Given the description of an element on the screen output the (x, y) to click on. 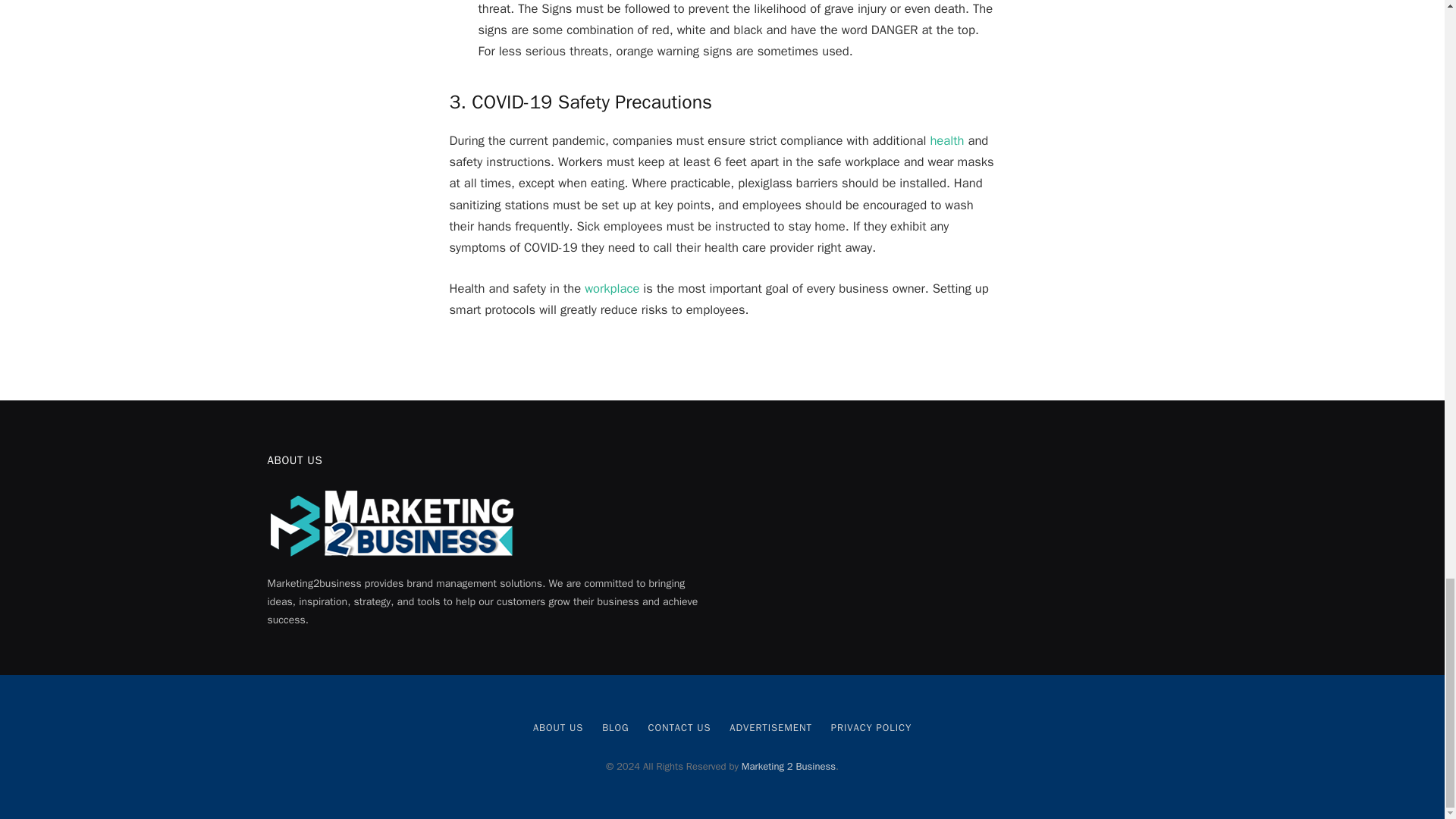
workplace (612, 288)
ABOUT US (557, 727)
health (946, 140)
BLOG (615, 727)
